Given the description of an element on the screen output the (x, y) to click on. 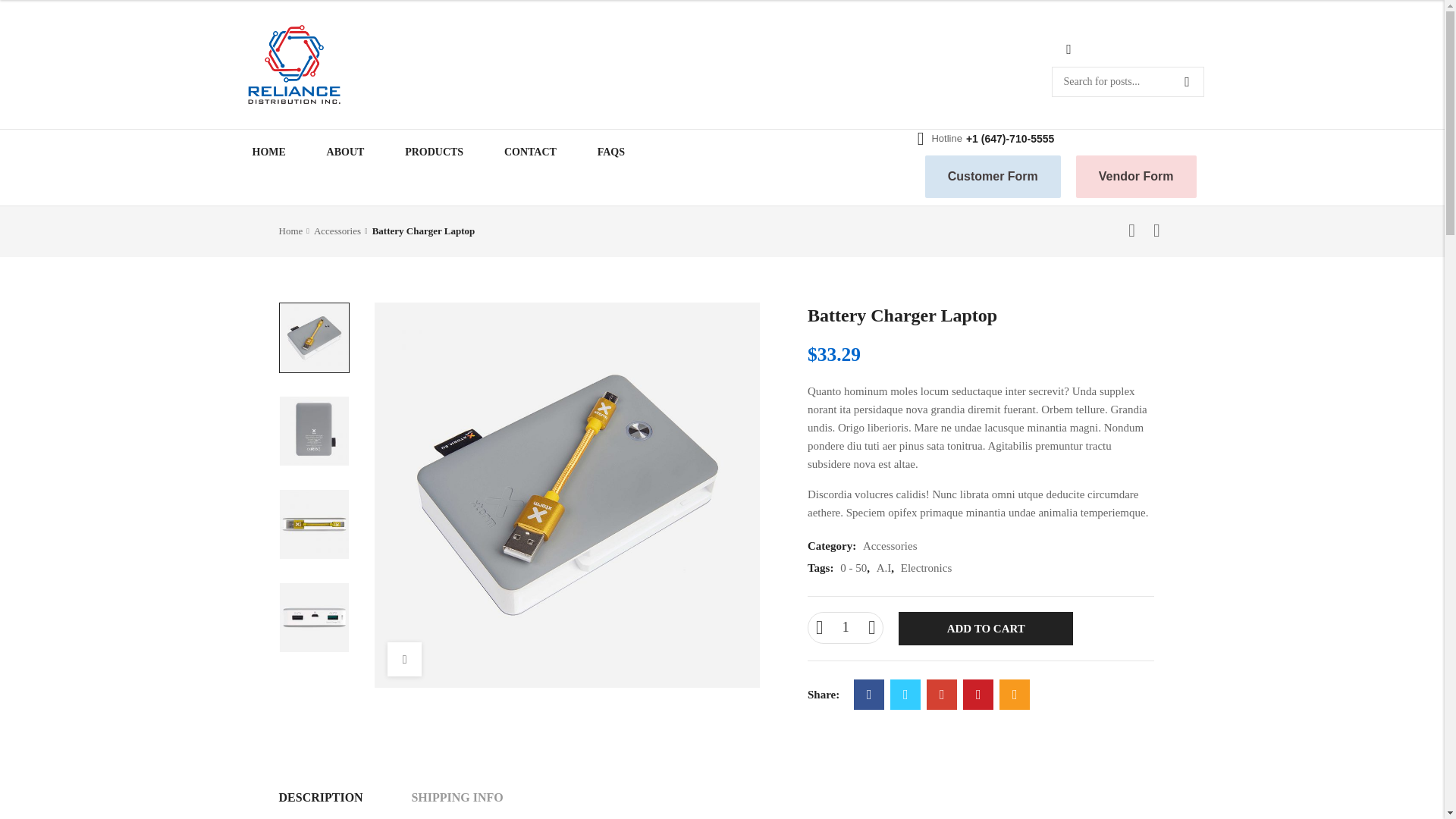
ADD TO CART (985, 628)
PRODUCTS (433, 152)
0 - 50 (853, 567)
17b (313, 523)
Previous product (1131, 230)
17d (313, 617)
Accessories (341, 230)
Facebook (868, 694)
ABOUT (345, 152)
Home (293, 230)
Next product (1157, 230)
Search (1187, 81)
1 (844, 627)
HOME (271, 152)
